Given the description of an element on the screen output the (x, y) to click on. 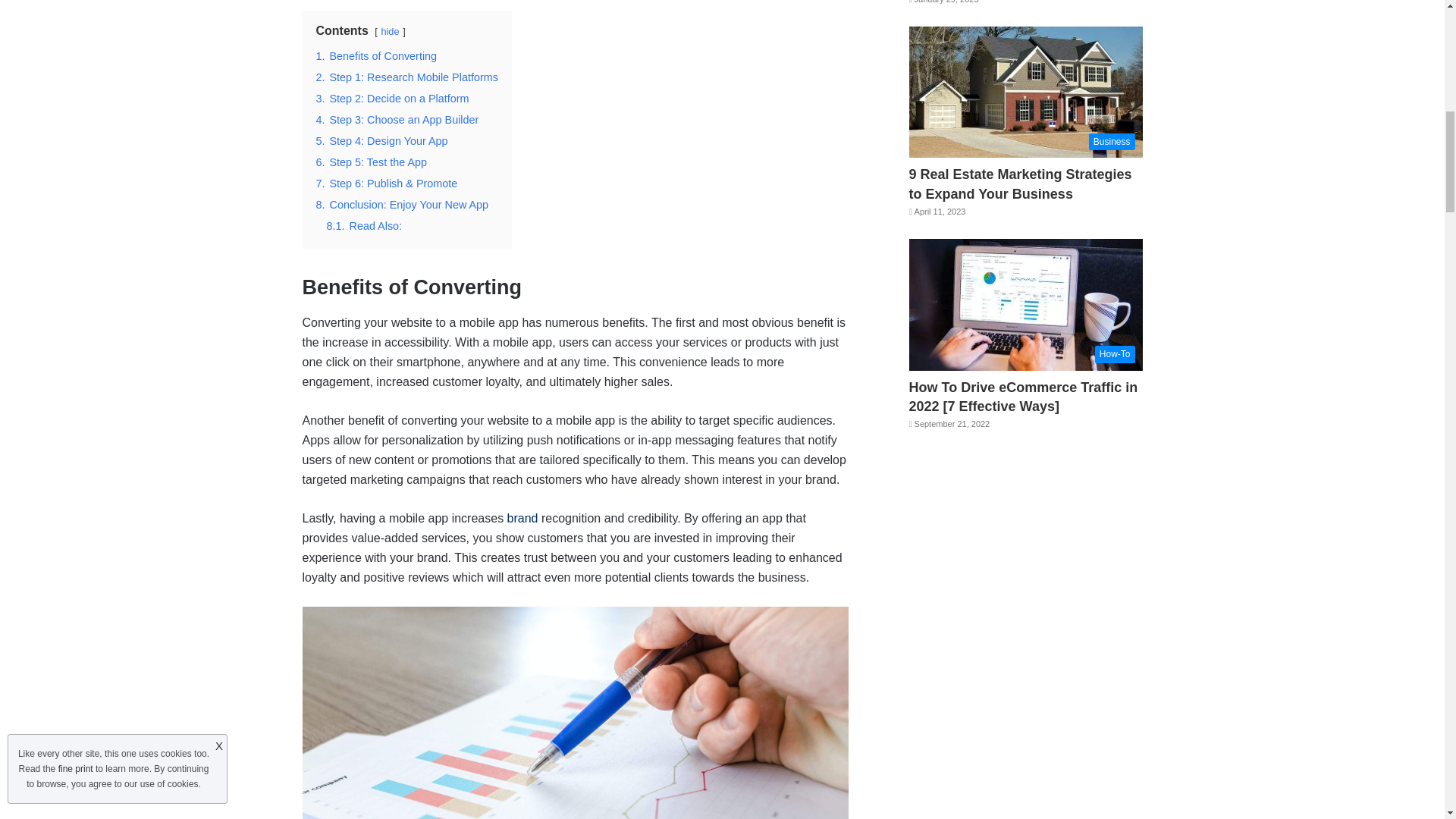
2. Step 1: Research Mobile Platforms (406, 77)
8.1. Read Also: (363, 225)
1. Benefits of Converting (375, 55)
8. Conclusion: Enjoy Your New App (401, 204)
brand (522, 517)
hide (389, 30)
3. Step 2: Decide on a Platform (391, 98)
6. Step 5: Test the App (370, 162)
4. Step 3: Choose an App Builder (397, 119)
5. Step 4: Design Your App (380, 141)
